Given the description of an element on the screen output the (x, y) to click on. 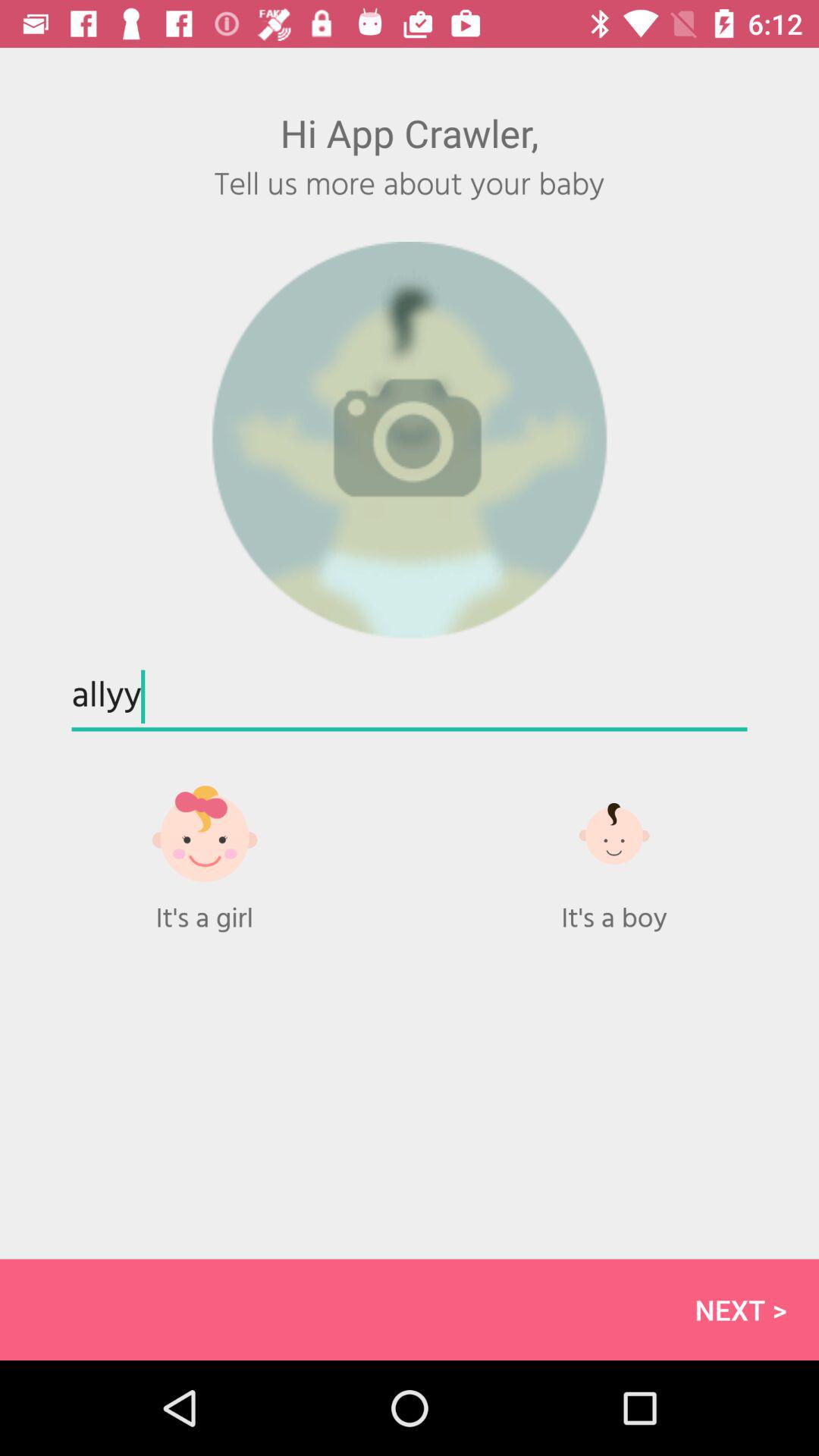
scroll until allyy item (409, 697)
